Given the description of an element on the screen output the (x, y) to click on. 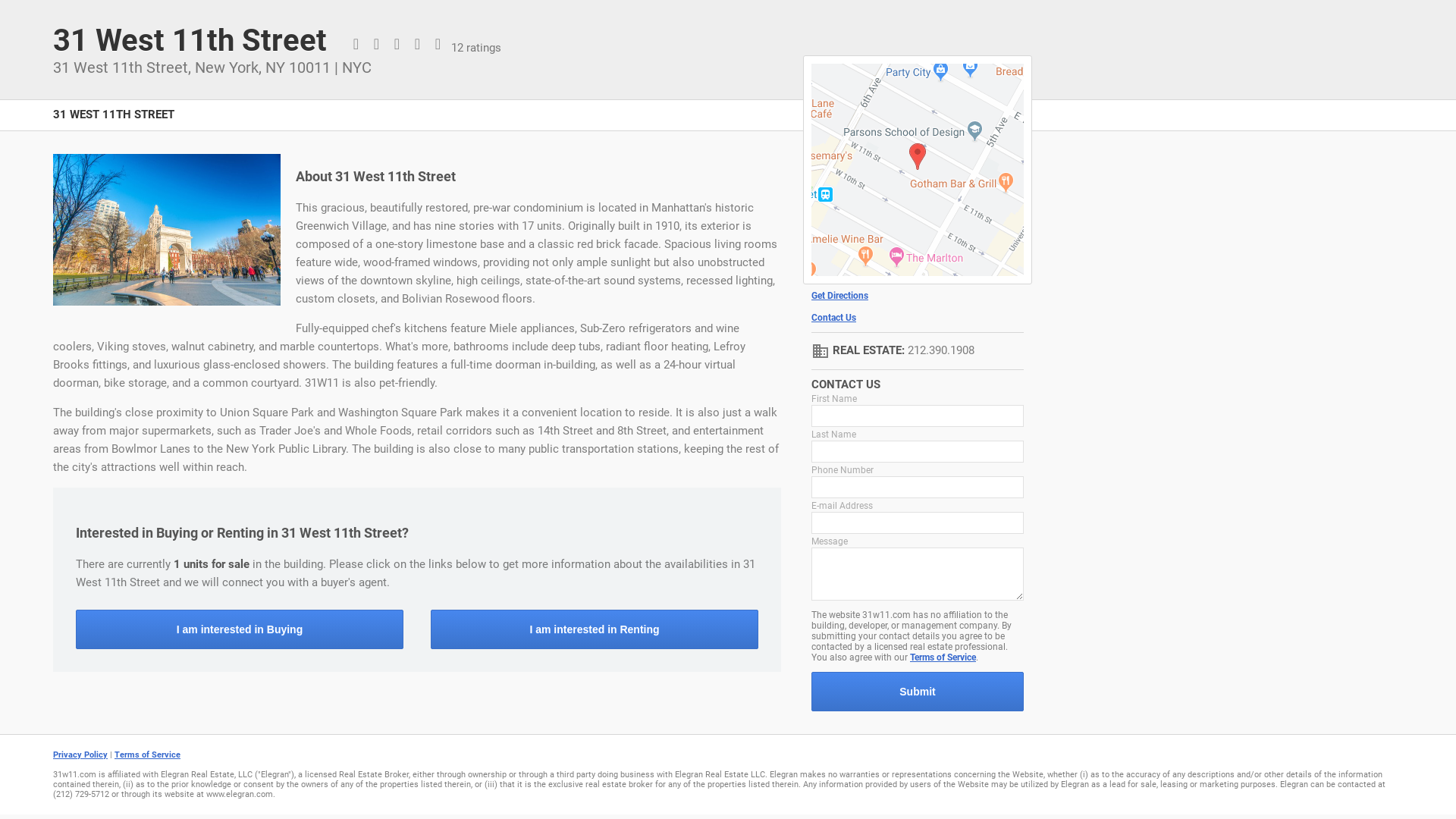
Submit Element type: text (917, 691)
I am interested in Buying Element type: text (239, 629)
Terms of Service Element type: text (147, 754)
Privacy Policy Element type: text (80, 754)
31 WEST 11TH STREET Element type: text (113, 122)
Get Directions Element type: text (917, 295)
I am interested in Renting Element type: text (594, 629)
Terms of Service Element type: text (942, 657)
Contact Us Element type: text (917, 317)
